Given the description of an element on the screen output the (x, y) to click on. 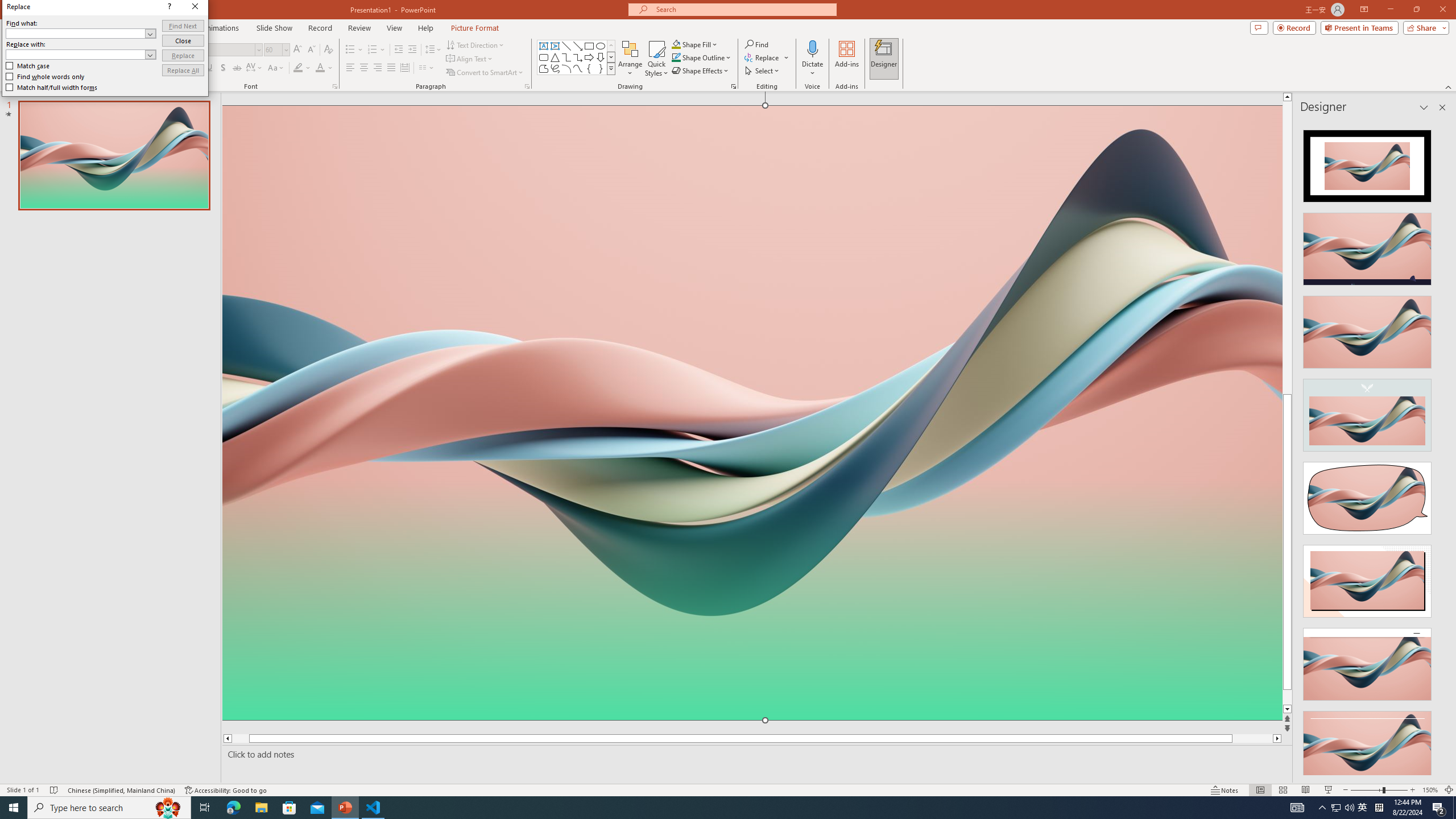
Change Case (276, 67)
Reset (138, 58)
Font... (334, 85)
